Given the description of an element on the screen output the (x, y) to click on. 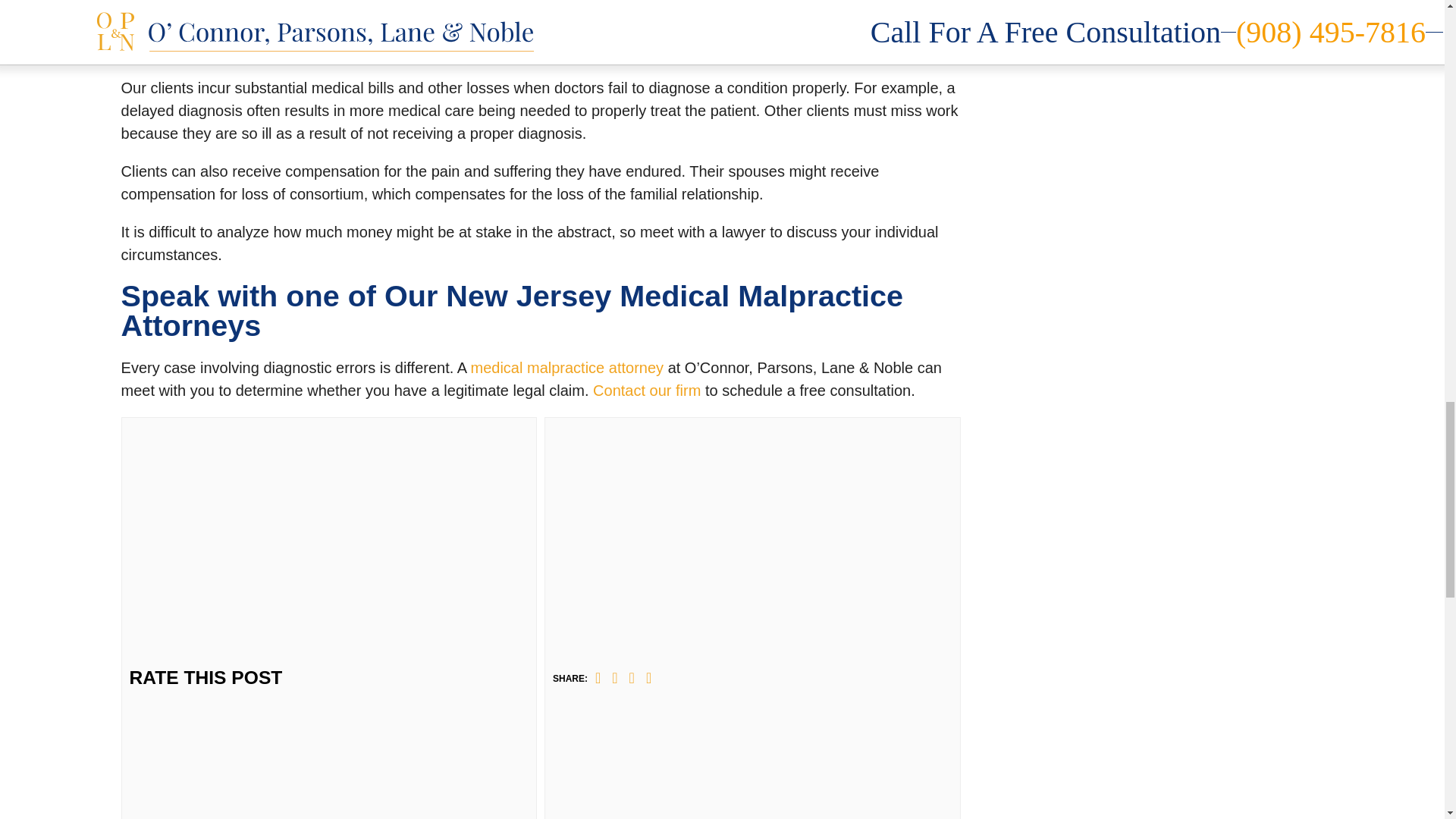
Email (648, 677)
4 Stars (360, 768)
3 Stars (360, 671)
Twitter (614, 677)
1 Star (360, 473)
LinkedIn (631, 677)
Facebook (597, 677)
2 Stars (360, 571)
